Given the description of an element on the screen output the (x, y) to click on. 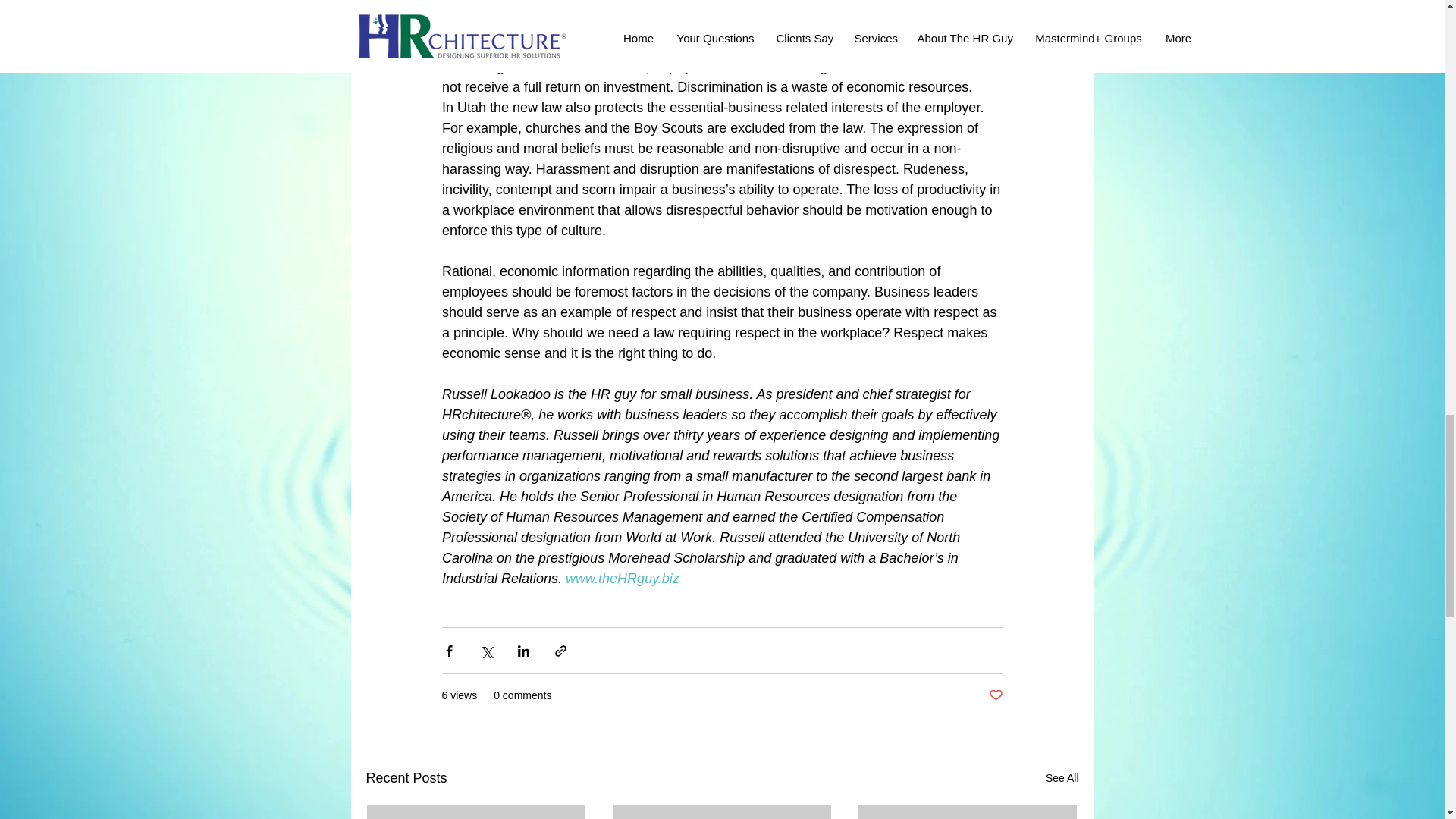
See All (1061, 778)
www.theHRguy.biz (622, 578)
Post not marked as liked (995, 695)
